Given the description of an element on the screen output the (x, y) to click on. 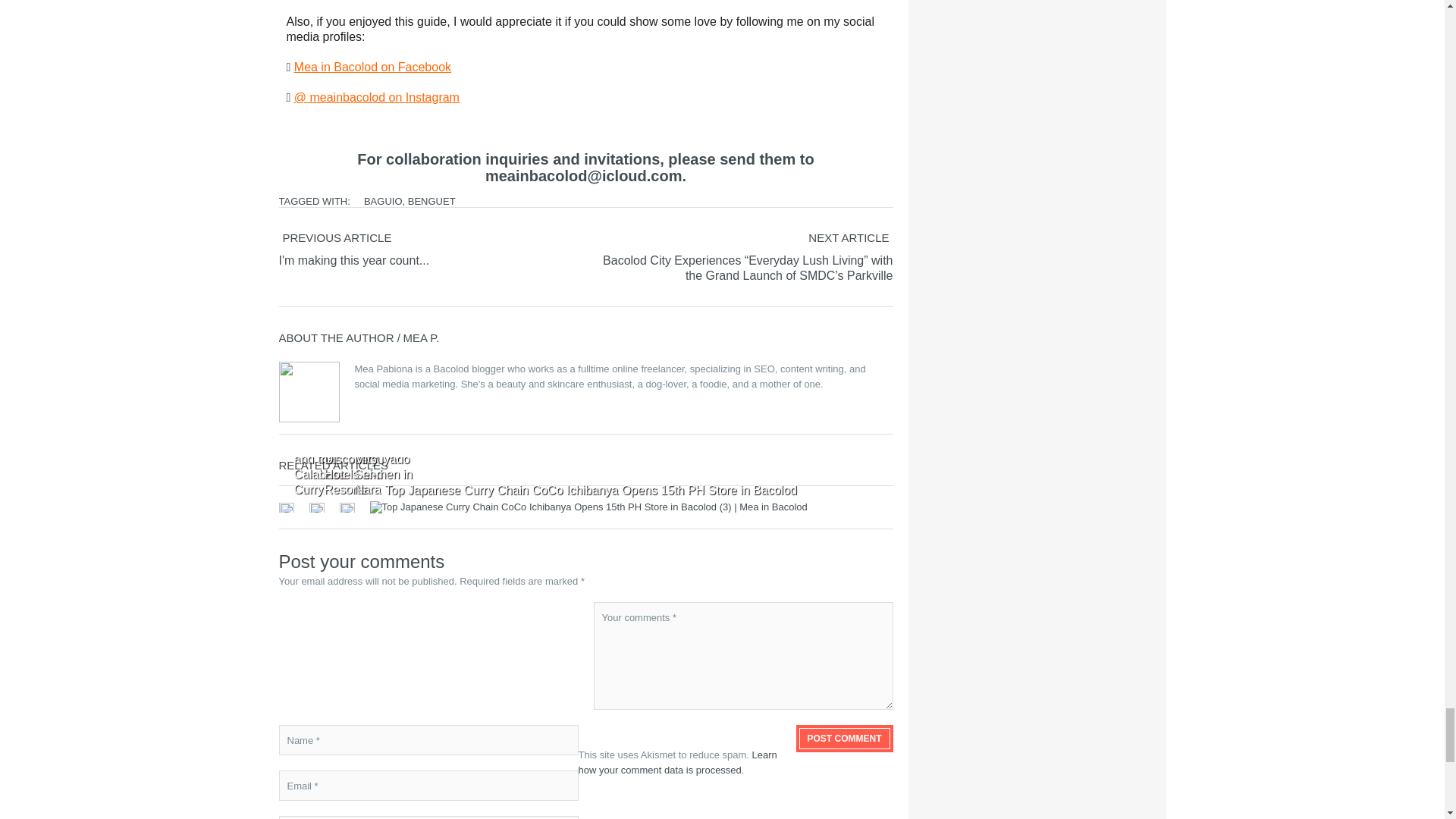
Posts by Mea P. (421, 337)
Post Comment (844, 738)
